Given the description of an element on the screen output the (x, y) to click on. 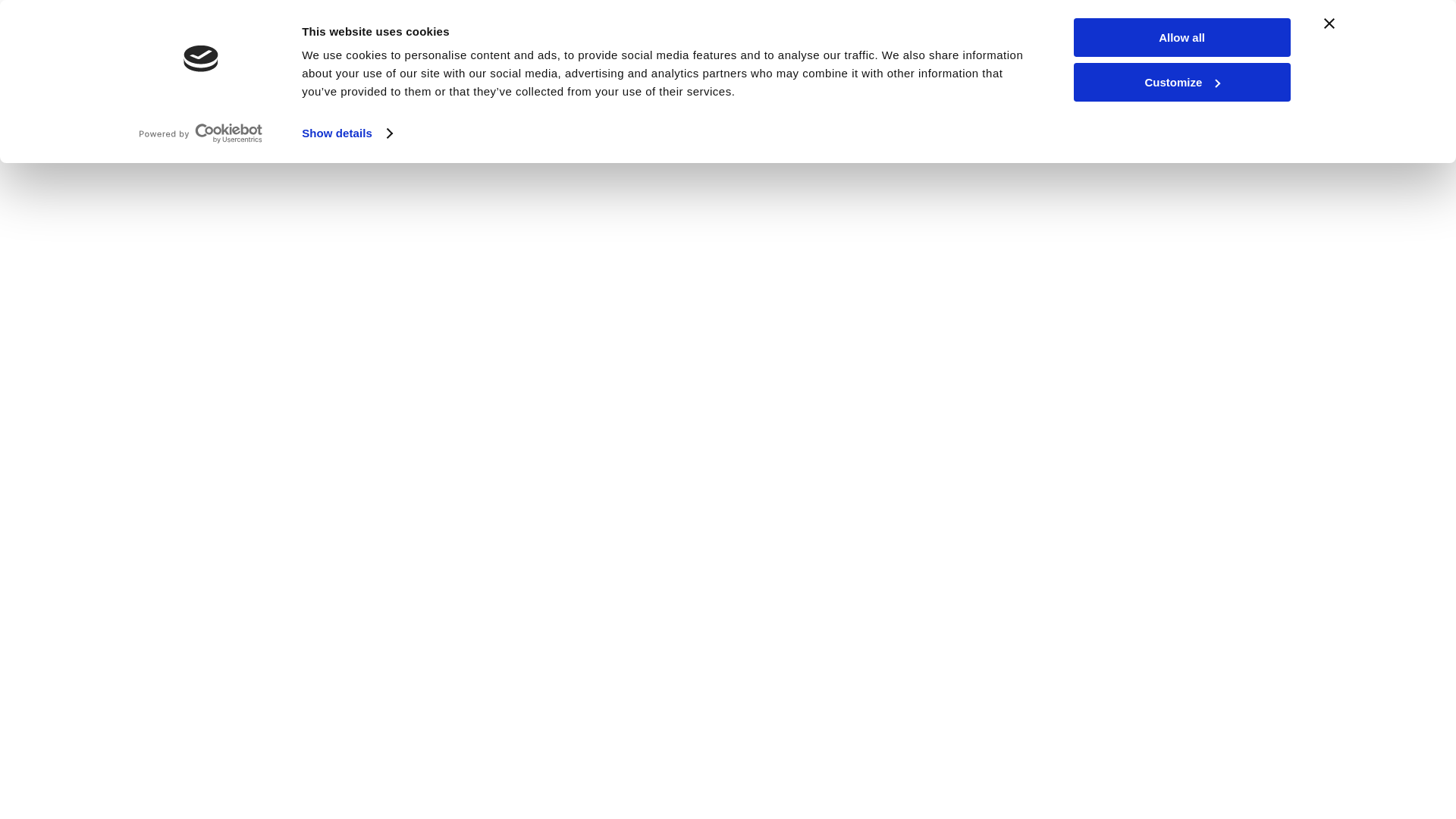
Esegui ricerca (1178, 65)
Allow all (1182, 37)
Search (1130, 74)
Home page (75, 26)
Customize (1182, 81)
